Given the description of an element on the screen output the (x, y) to click on. 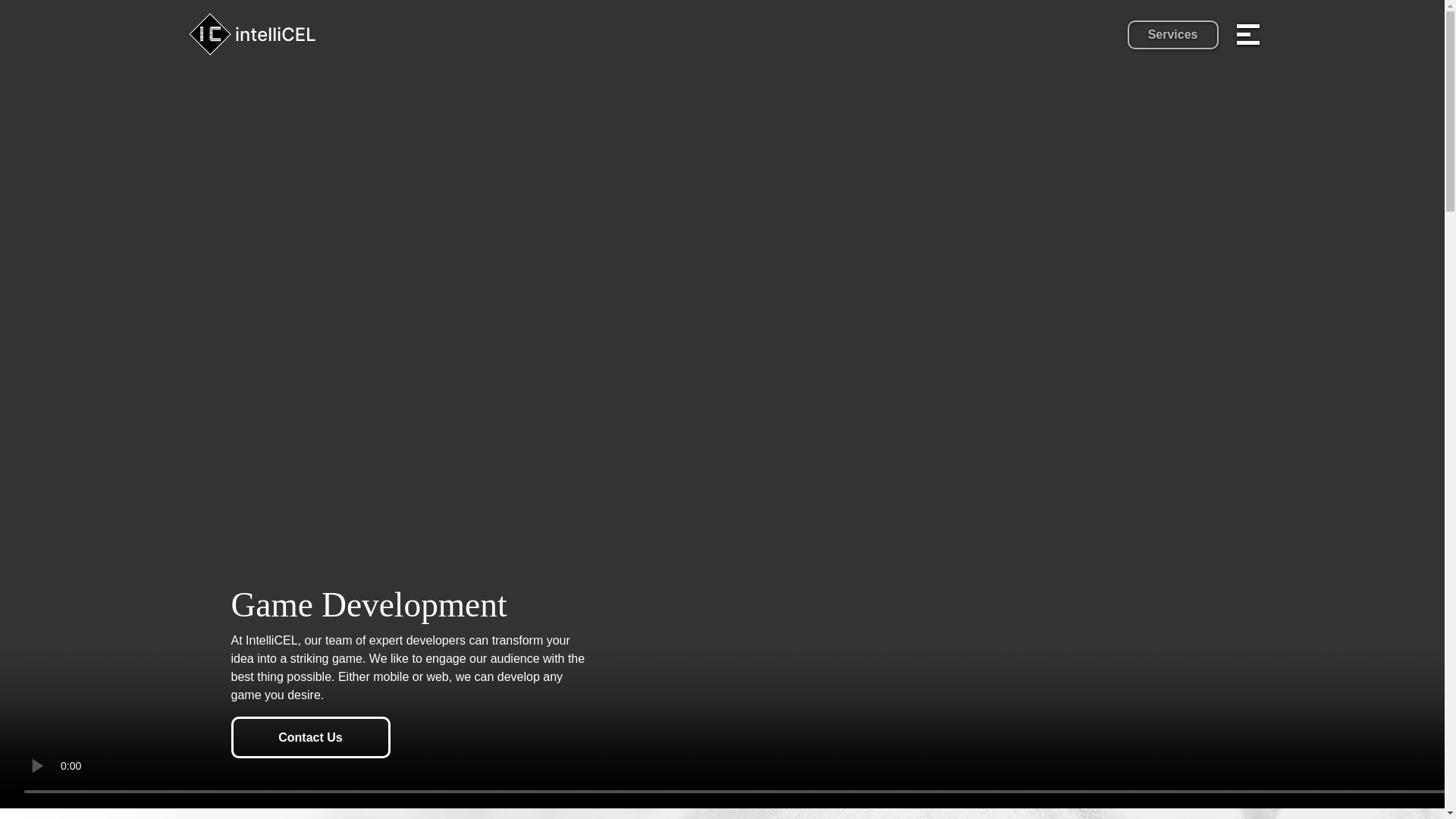
Services (1172, 33)
Contact Us (310, 737)
